Given the description of an element on the screen output the (x, y) to click on. 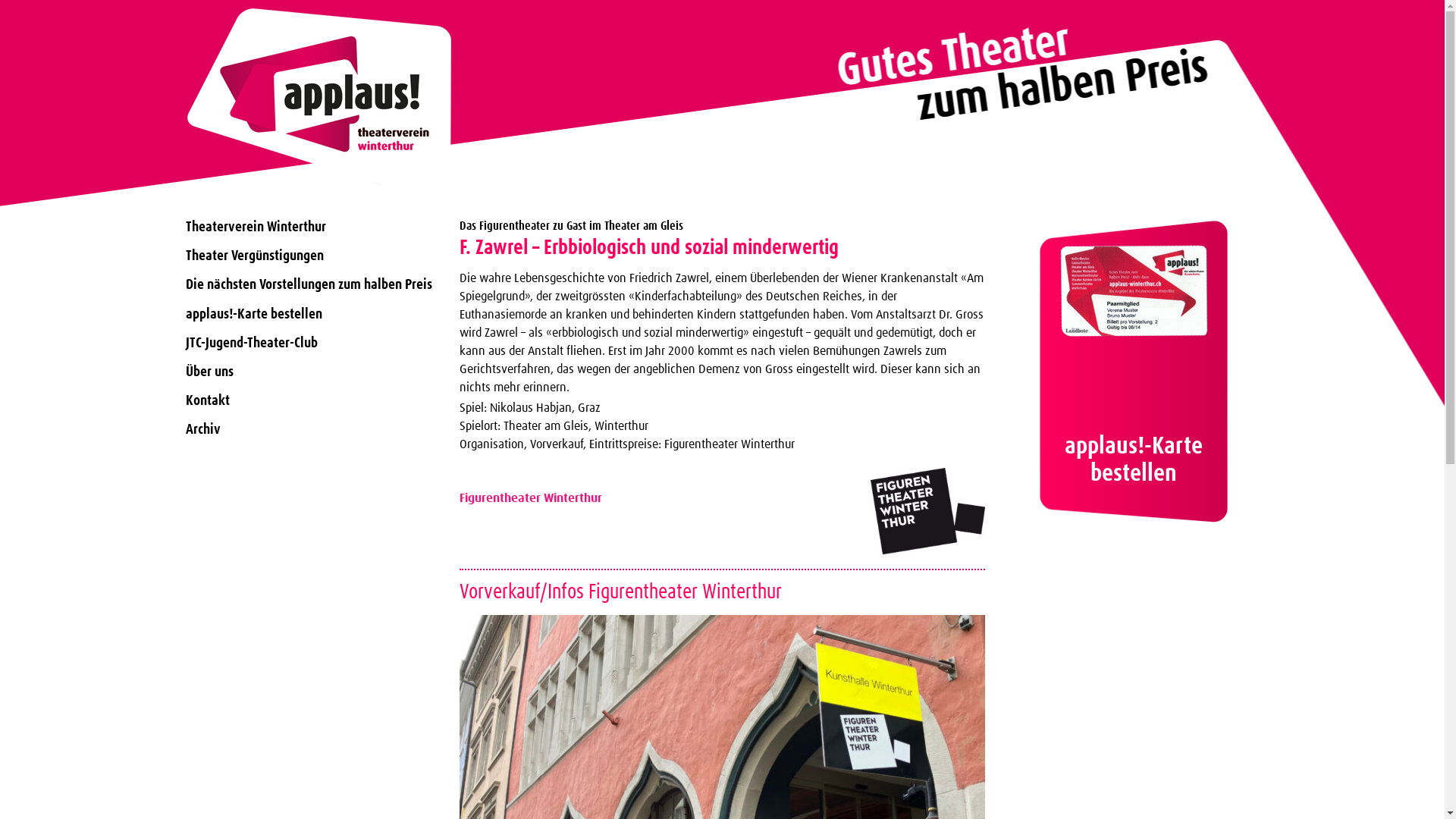
JTC-Jugend-Theater-Club Element type: text (310, 342)
applaus!-Karte bestellen Element type: text (1133, 370)
Kontakt Element type: text (310, 400)
Theaterverein Winterthur Element type: text (310, 226)
Archiv Element type: text (310, 429)
applaus!-Karte bestellen Element type: text (310, 314)
Figurentheater Winterthur Element type: text (530, 498)
